Given the description of an element on the screen output the (x, y) to click on. 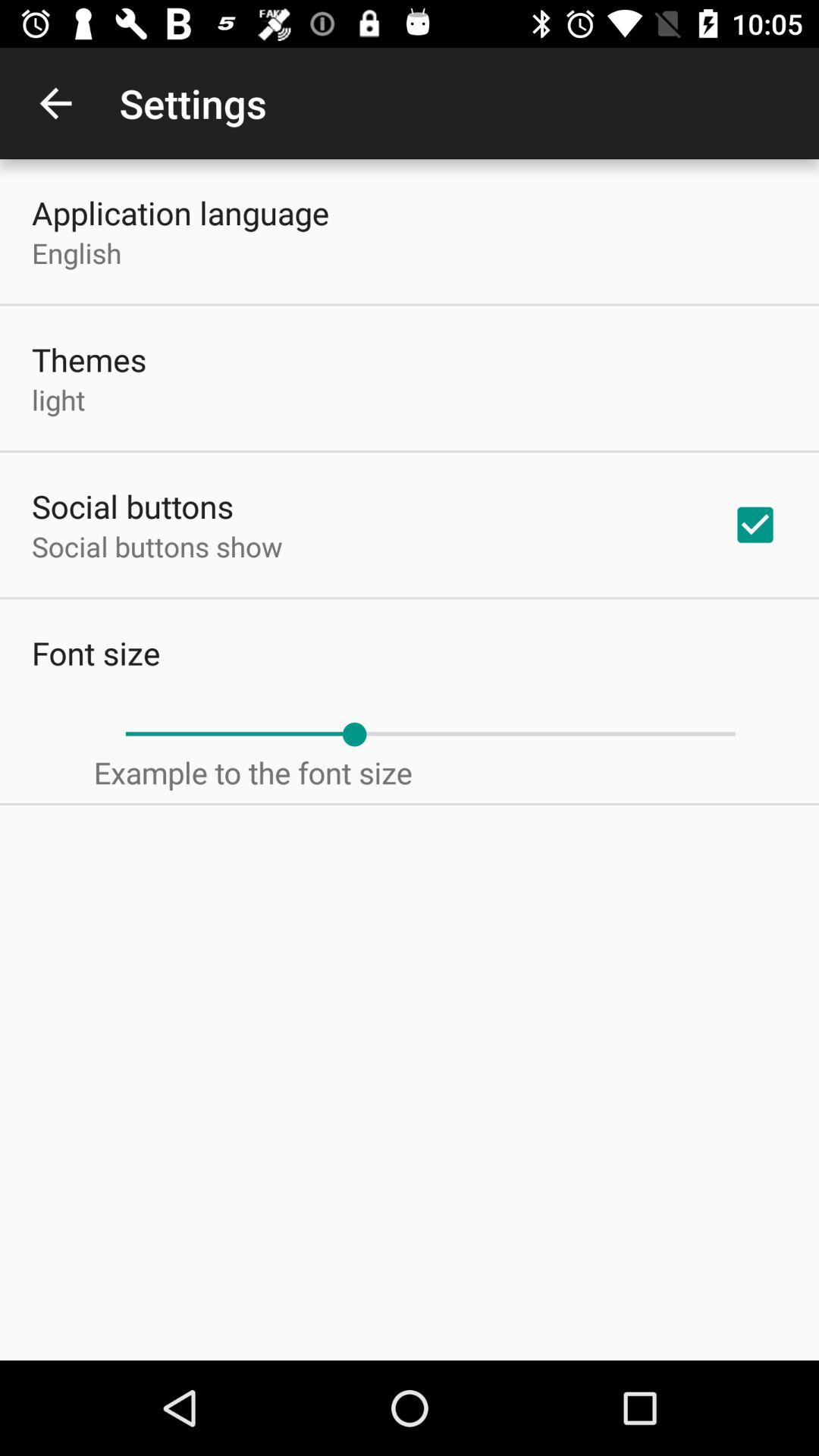
select the item above the social buttons icon (58, 399)
